Given the description of an element on the screen output the (x, y) to click on. 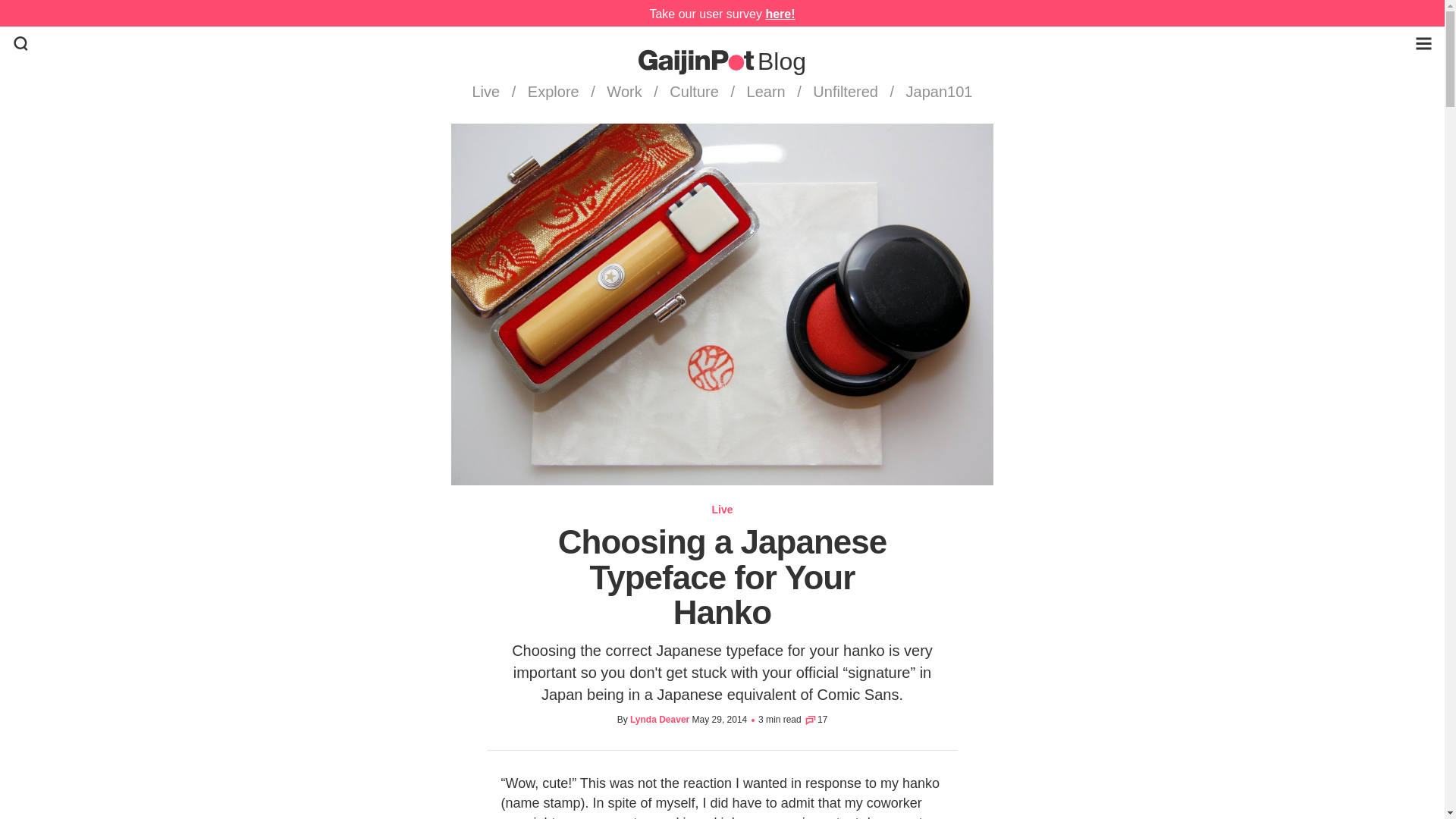
Explore (552, 91)
Live (487, 91)
Blog (781, 61)
Work (624, 91)
17 (815, 719)
Learn (765, 91)
Culture (694, 91)
Lynda Deaver (659, 719)
Unfiltered (845, 91)
Japan101 (936, 91)
Open Menu (1422, 43)
Gaijinpot (696, 62)
Gaijinpot (696, 62)
Live (721, 509)
